Given the description of an element on the screen output the (x, y) to click on. 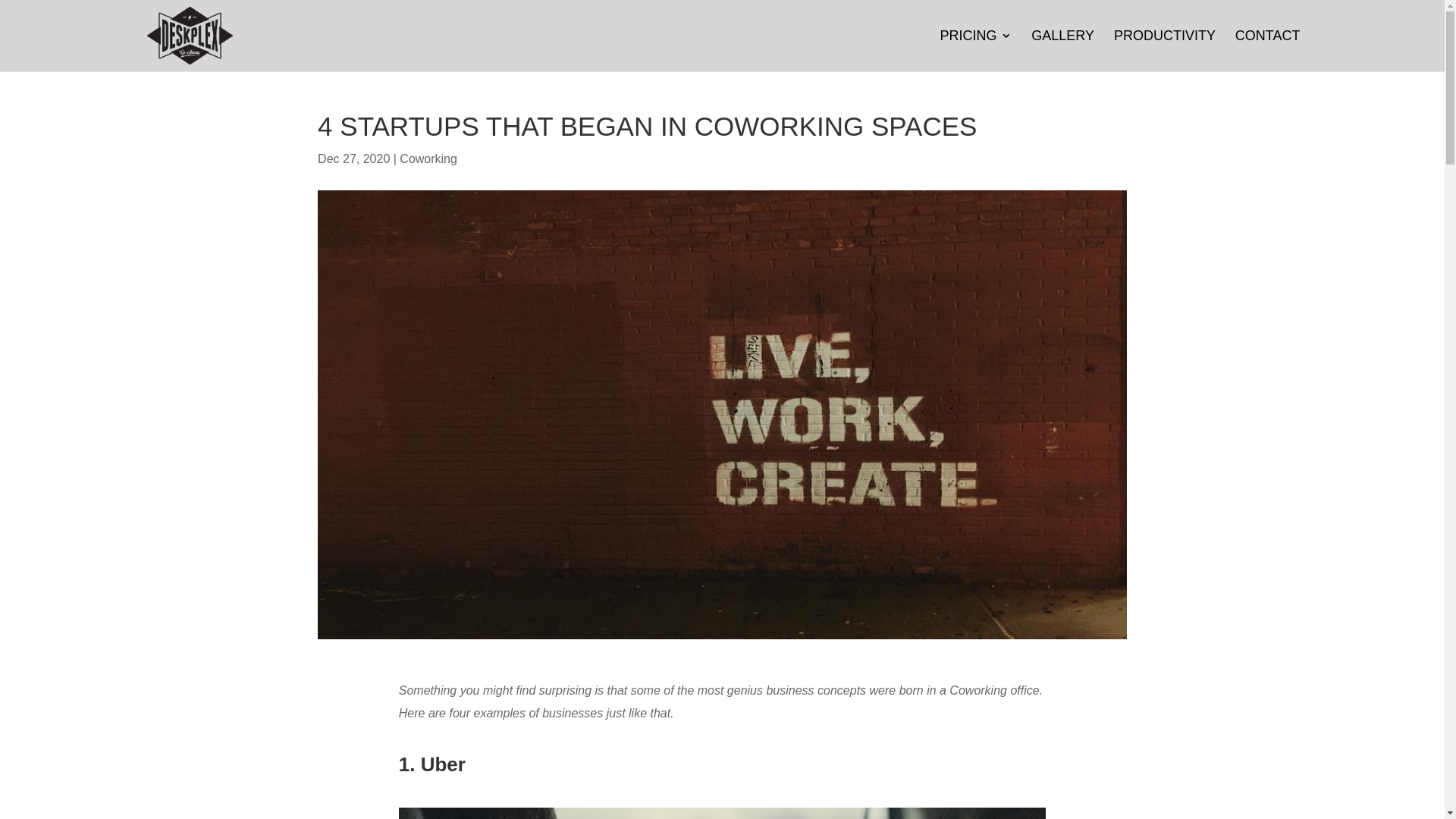
CONTACT Element type: text (1267, 50)
PRODUCTIVITY Element type: text (1164, 50)
live work create Element type: hover (721, 415)
Coworking Element type: text (428, 158)
GALLERY Element type: text (1062, 50)
PRICING Element type: text (975, 50)
